Given the description of an element on the screen output the (x, y) to click on. 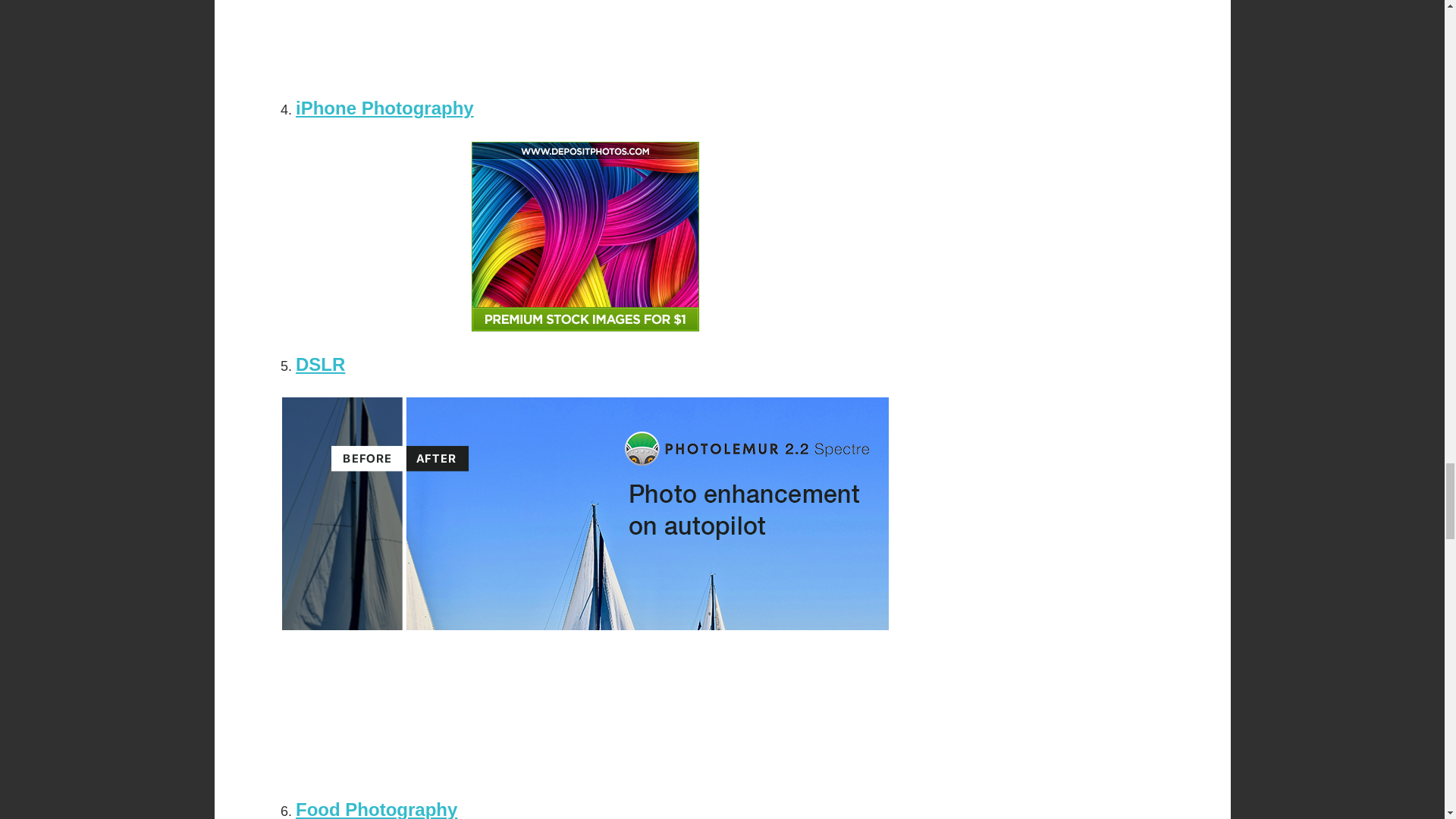
16 Best Ways to Learn Photography with Udemy 5 (585, 37)
16 Best Ways to Learn Photography with Udemy 6 (584, 236)
